Given the description of an element on the screen output the (x, y) to click on. 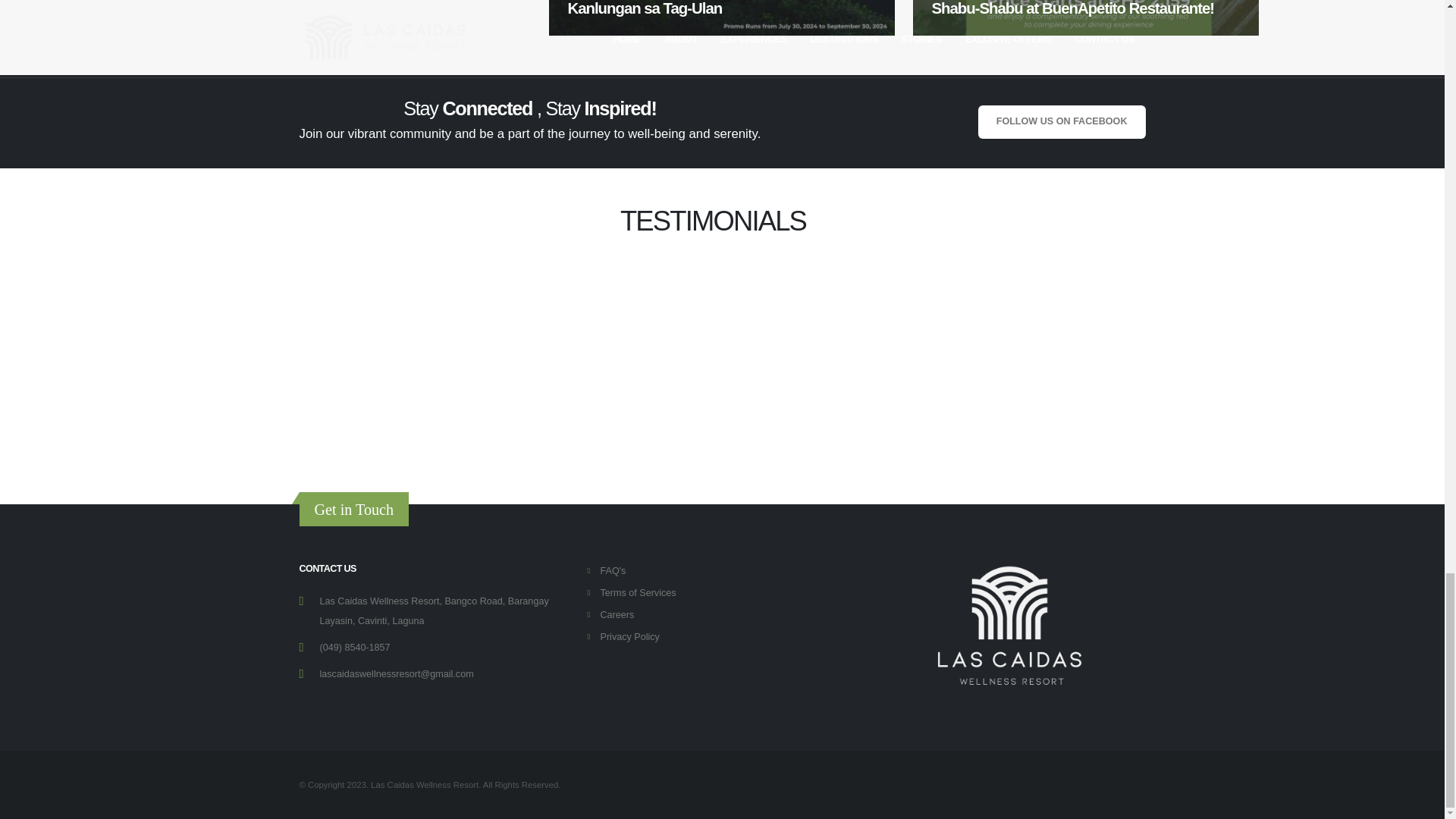
FAQ's (612, 570)
Terms of Services (637, 593)
Privacy Policy (629, 636)
Careers (616, 614)
Shabu-Shabu at BuenApetito Restaurante! (1085, 18)
Kanlungan sa Tag-Ulan (721, 18)
FOLLOW US ON FACEBOOK (1061, 121)
